Given the description of an element on the screen output the (x, y) to click on. 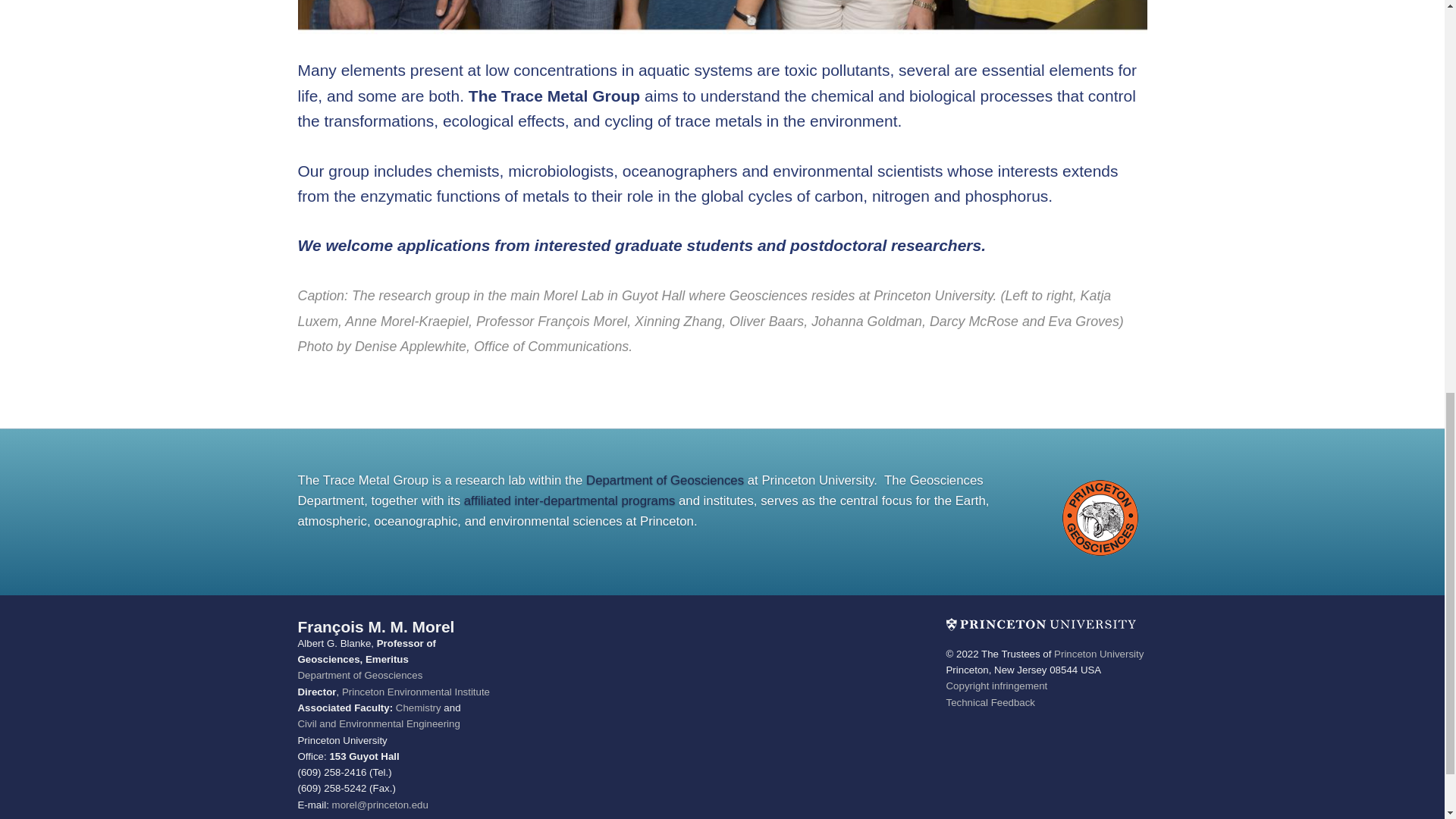
Department of Geosciences (359, 674)
Princeton Environmental Institute (415, 691)
Department of Geosciences (665, 480)
affiliated inter-departmental programs (569, 500)
Technical Feedback (990, 702)
Princeton University (1098, 654)
Civil and Environmental Engineering (378, 723)
Chemistry (418, 707)
Copyright infringement (997, 685)
